Given the description of an element on the screen output the (x, y) to click on. 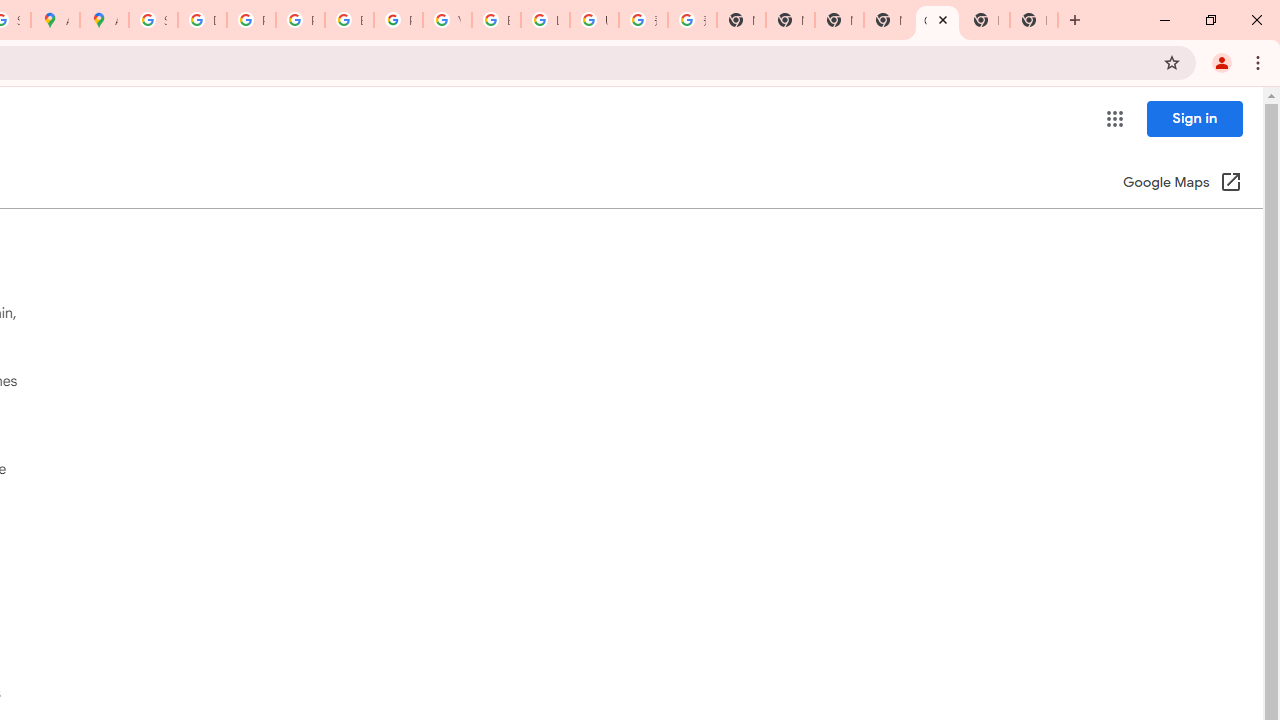
New Tab (1033, 20)
New Tab (888, 20)
YouTube (447, 20)
Google Maps (Open in a new window) (1182, 183)
Crisis-related alerts in Google Maps - Google Maps Help (937, 20)
